Given the description of an element on the screen output the (x, y) to click on. 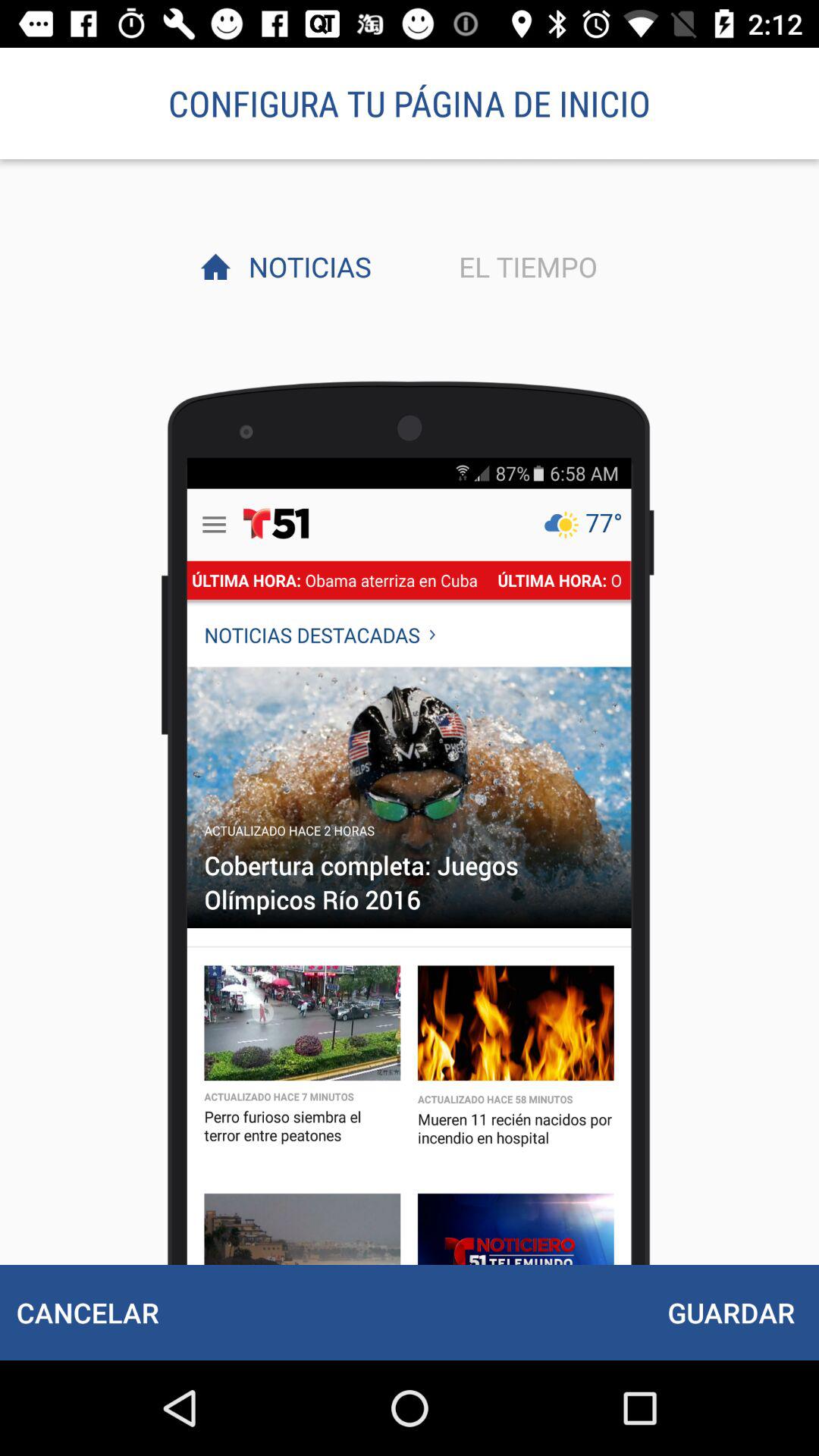
swipe to cancelar icon (87, 1312)
